Given the description of an element on the screen output the (x, y) to click on. 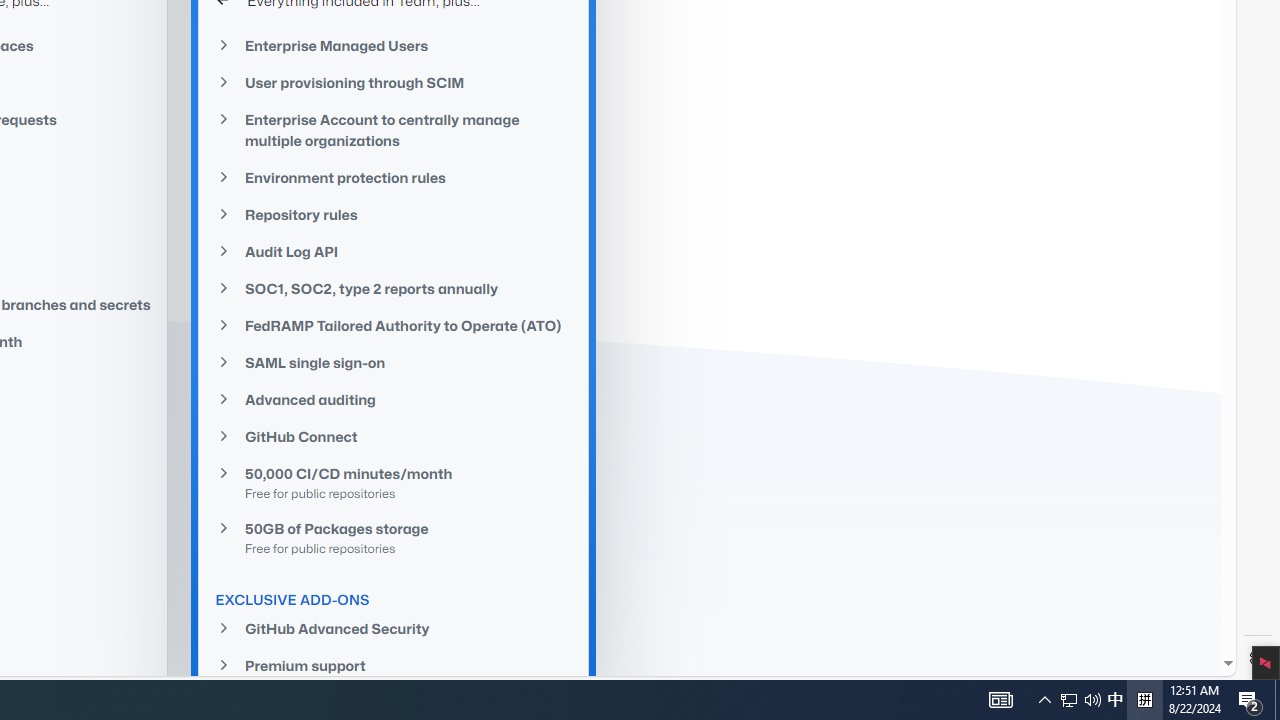
User provisioning through SCIM (394, 82)
Premium support (394, 665)
Repository rules (394, 214)
SOC1, SOC2, type 2 reports annually (394, 289)
FedRAMP Tailored Authority to Operate (ATO) (394, 325)
Premium support (394, 664)
SAML single sign-on (394, 362)
50,000 CI/CD minutes/monthFree for public repositories (394, 482)
Environment protection rules (394, 177)
Environment protection rules (394, 178)
Repository rules (394, 214)
50GB of Packages storageFree for public repositories (394, 537)
SAML single sign-on (394, 363)
